Given the description of an element on the screen output the (x, y) to click on. 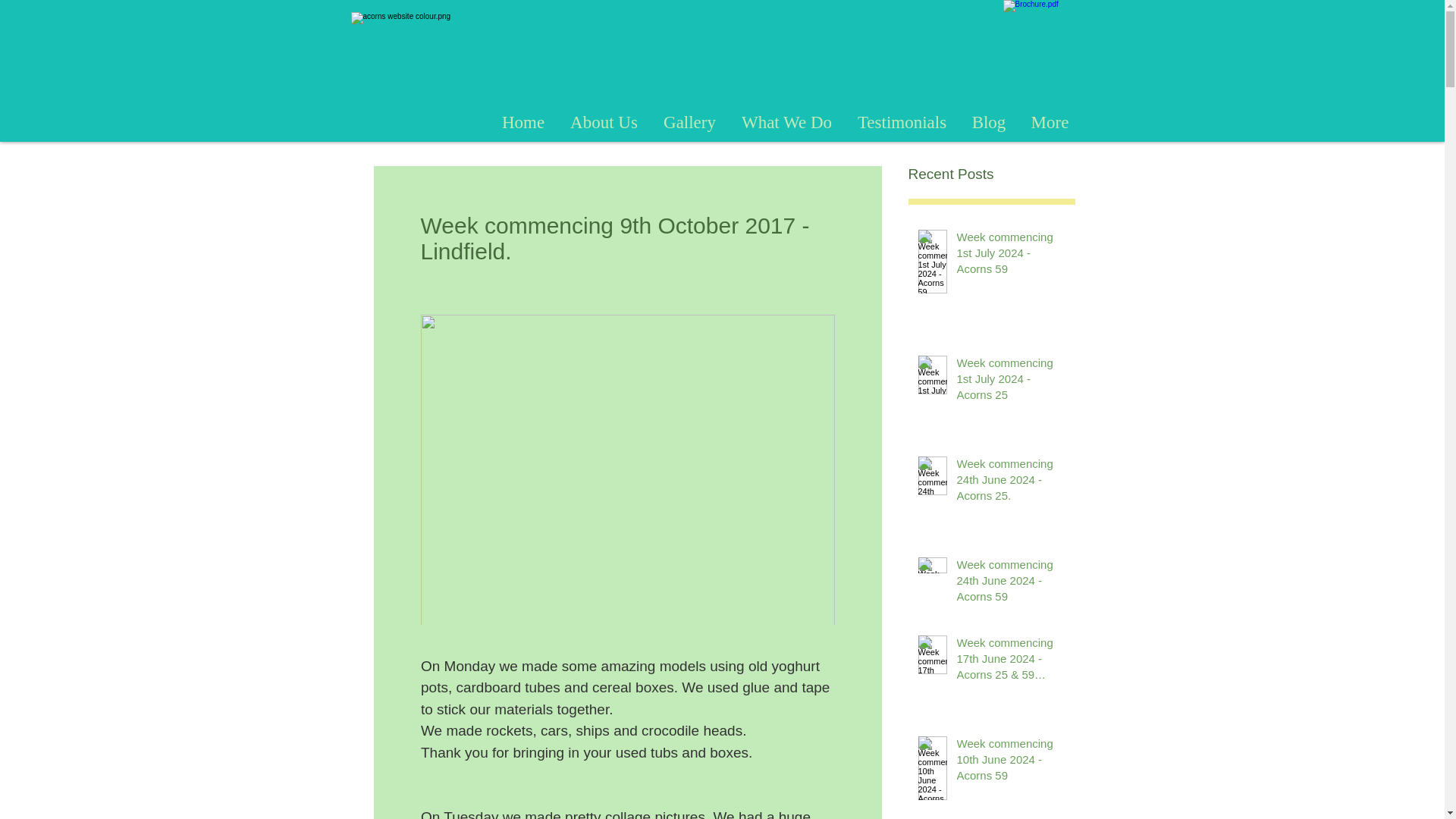
Week commencing 24th June 2024 - Acorns 25. (1010, 482)
Week commencing 24th June 2024 - Acorns 59 (1010, 583)
About Us (602, 121)
Home (523, 121)
Week commencing 1st July 2024 - Acorns 59 (1010, 255)
Gallery (689, 121)
Blog (987, 121)
What We Do (786, 121)
Week commencing 1st July 2024 - Acorns 25 (1010, 381)
Testimonials (901, 121)
Week commencing 10th June 2024 - Acorns 59 (1010, 762)
Brochure.pdf (1042, 50)
